Given the description of an element on the screen output the (x, y) to click on. 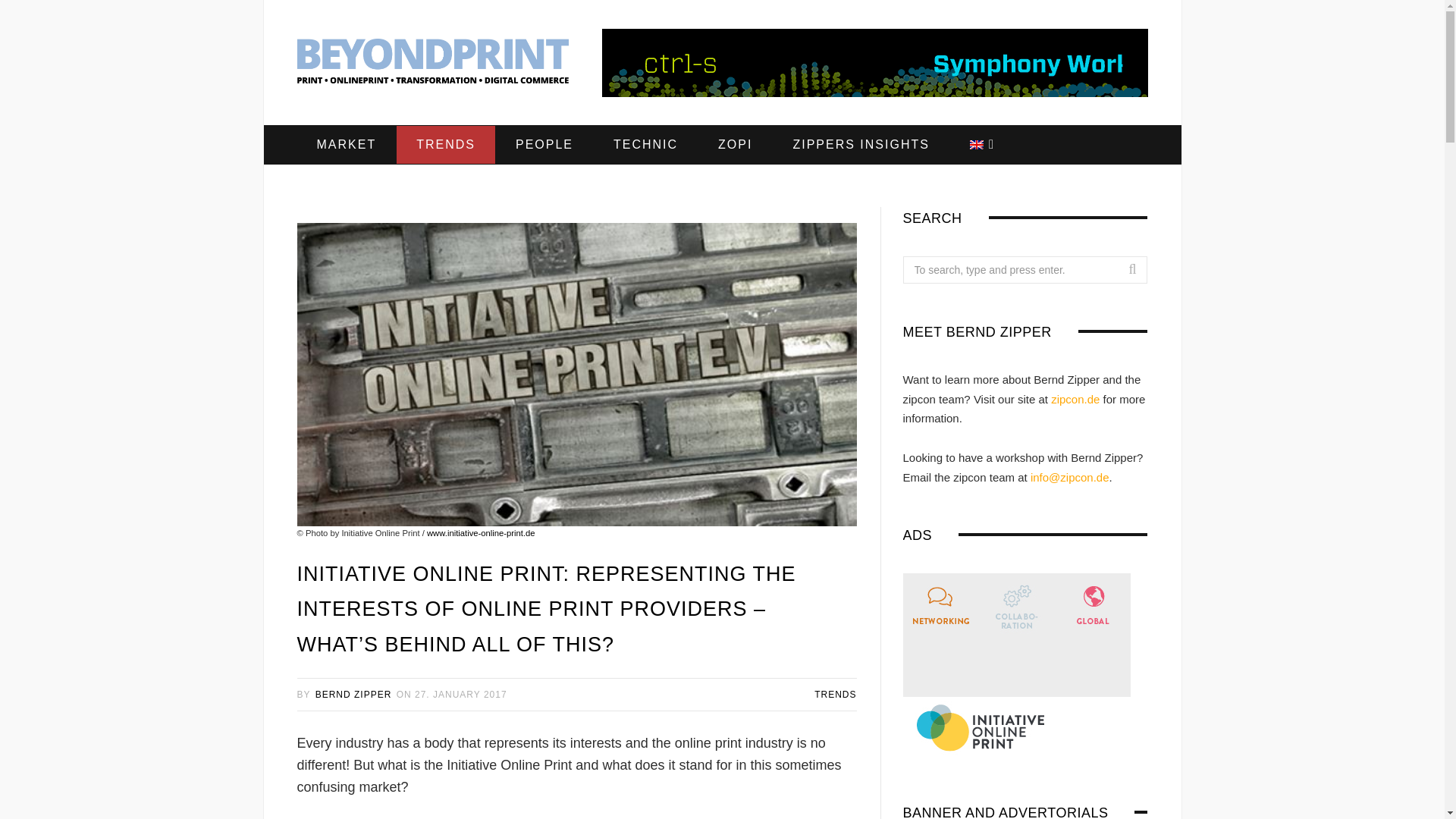
www.initiative-online-print.de (480, 532)
ZIPPERS INSIGHTS (861, 144)
BERND ZIPPER (353, 694)
PEOPLE (544, 144)
beyond-print.de (433, 63)
MARKET (346, 144)
TECHNIC (645, 144)
TRENDS (834, 694)
Posts by Bernd Zipper (353, 694)
zipcon.de (1075, 399)
ZOPI (734, 144)
TRENDS (445, 144)
